Given the description of an element on the screen output the (x, y) to click on. 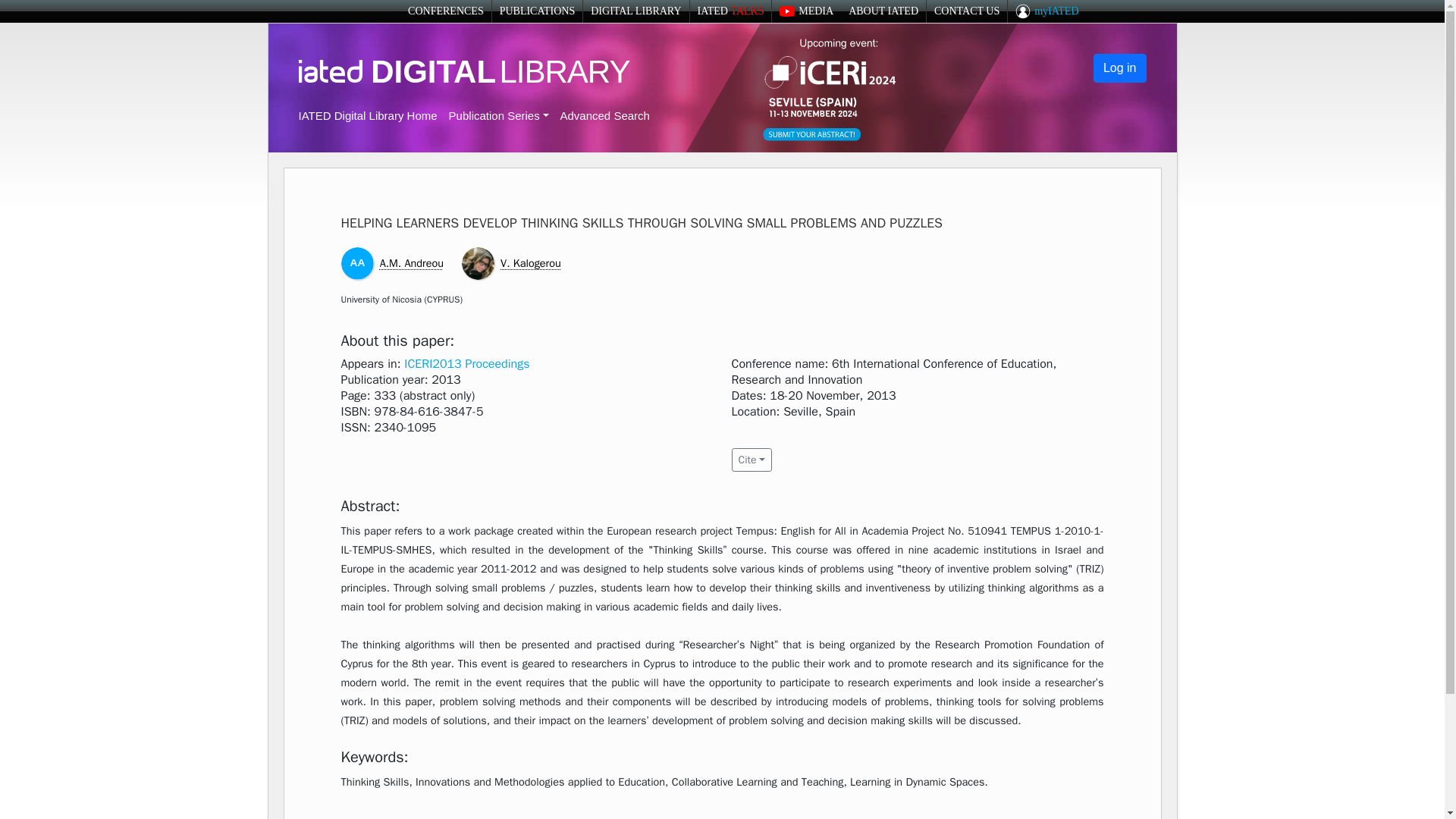
CONTACT US (966, 10)
Cite (750, 459)
Advanced Search (604, 115)
CONFERENCES (445, 10)
V. Kalogerou (530, 263)
ABOUT IATED (883, 10)
PUBLICATIONS (537, 10)
DIGITAL LIBRARY (636, 10)
Log in (1120, 68)
myIATED (1046, 11)
